Given the description of an element on the screen output the (x, y) to click on. 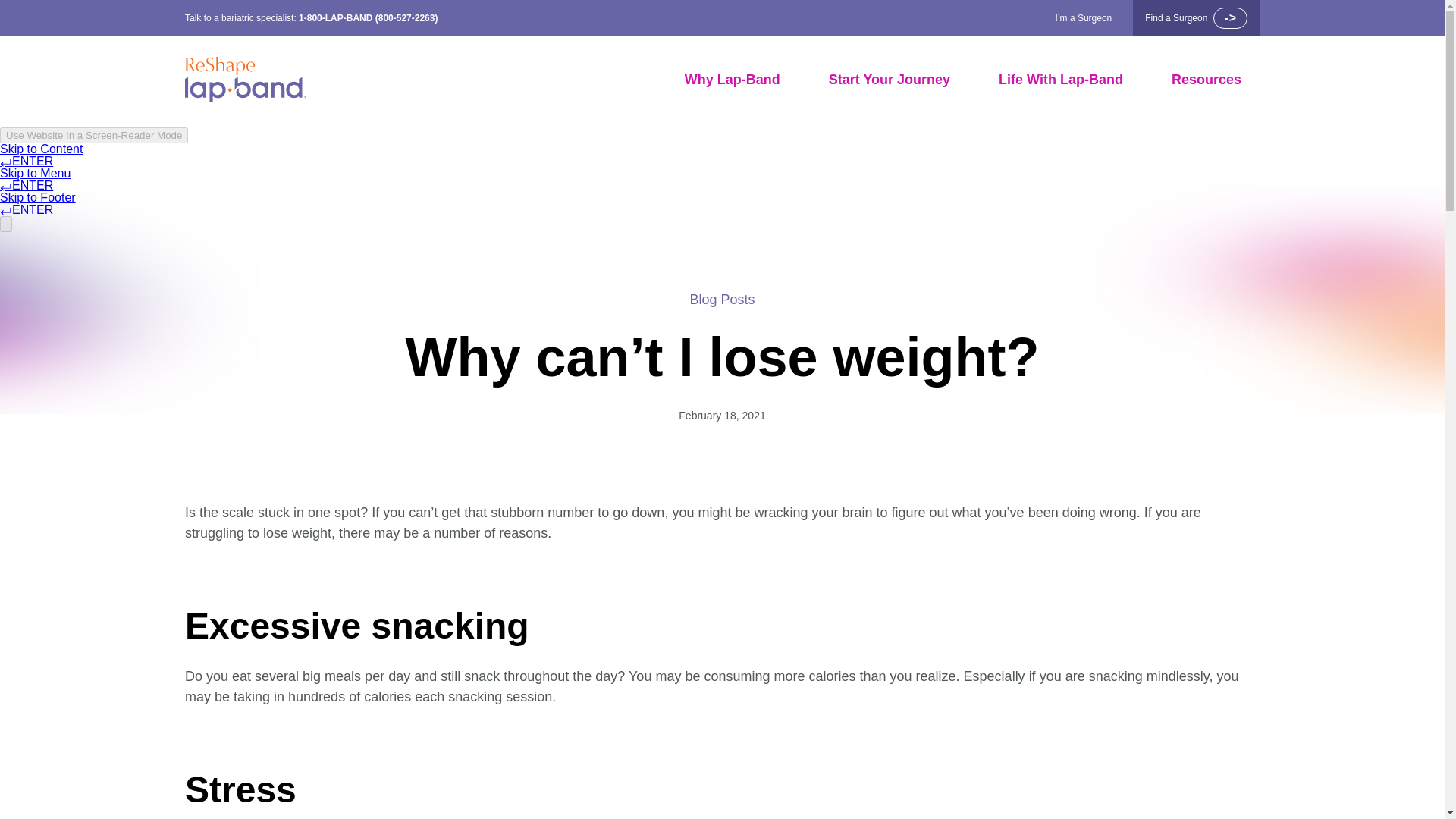
Start Your Journey (889, 79)
Life With Lap-Band (1060, 79)
logo (244, 79)
Why Lap-Band (732, 79)
Resources (1206, 79)
